Given the description of an element on the screen output the (x, y) to click on. 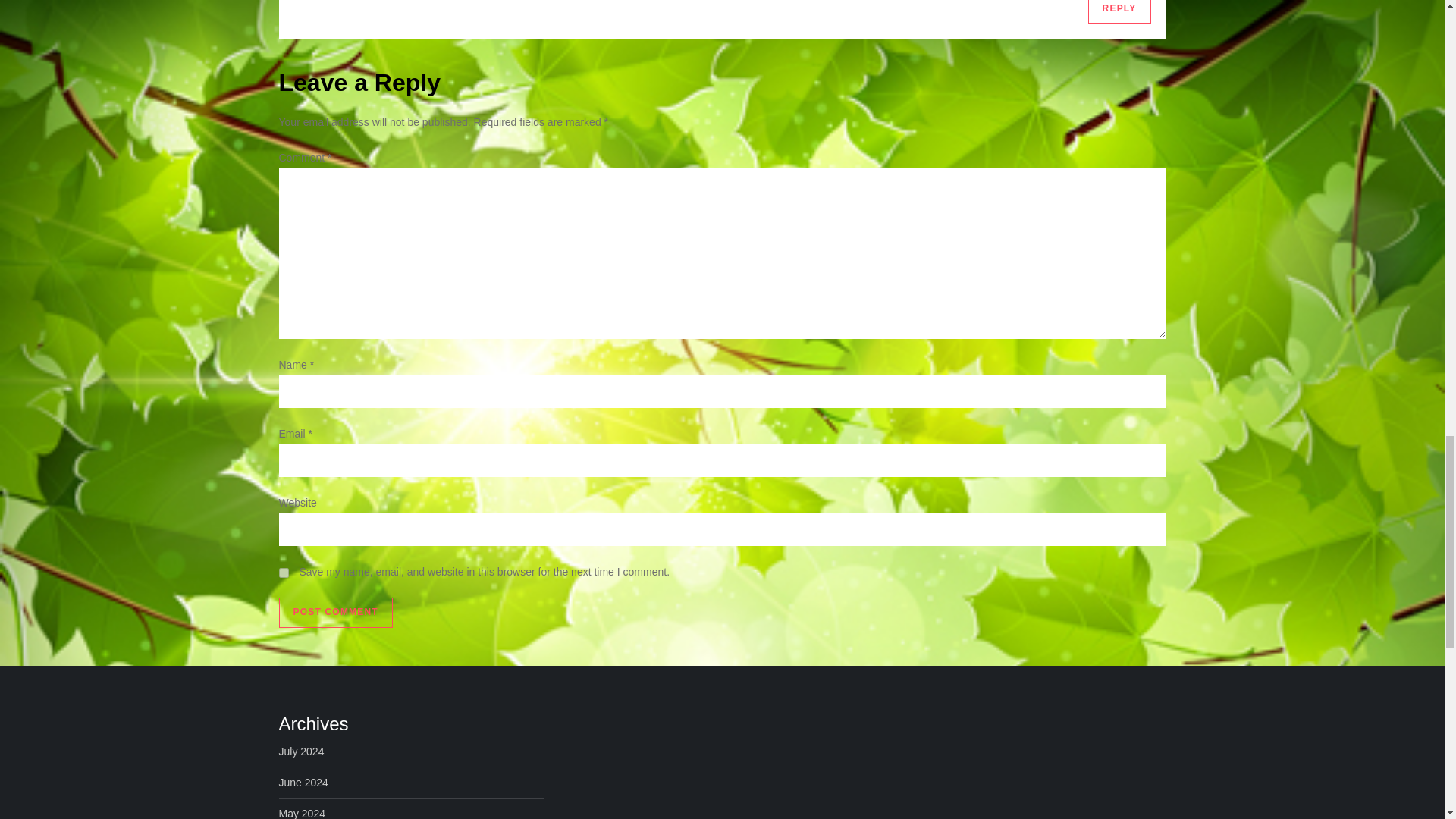
yes (283, 573)
Post Comment (336, 612)
July 2024 (301, 751)
Post Comment (336, 612)
May 2024 (301, 811)
June 2024 (304, 782)
REPLY (1119, 12)
